Given the description of an element on the screen output the (x, y) to click on. 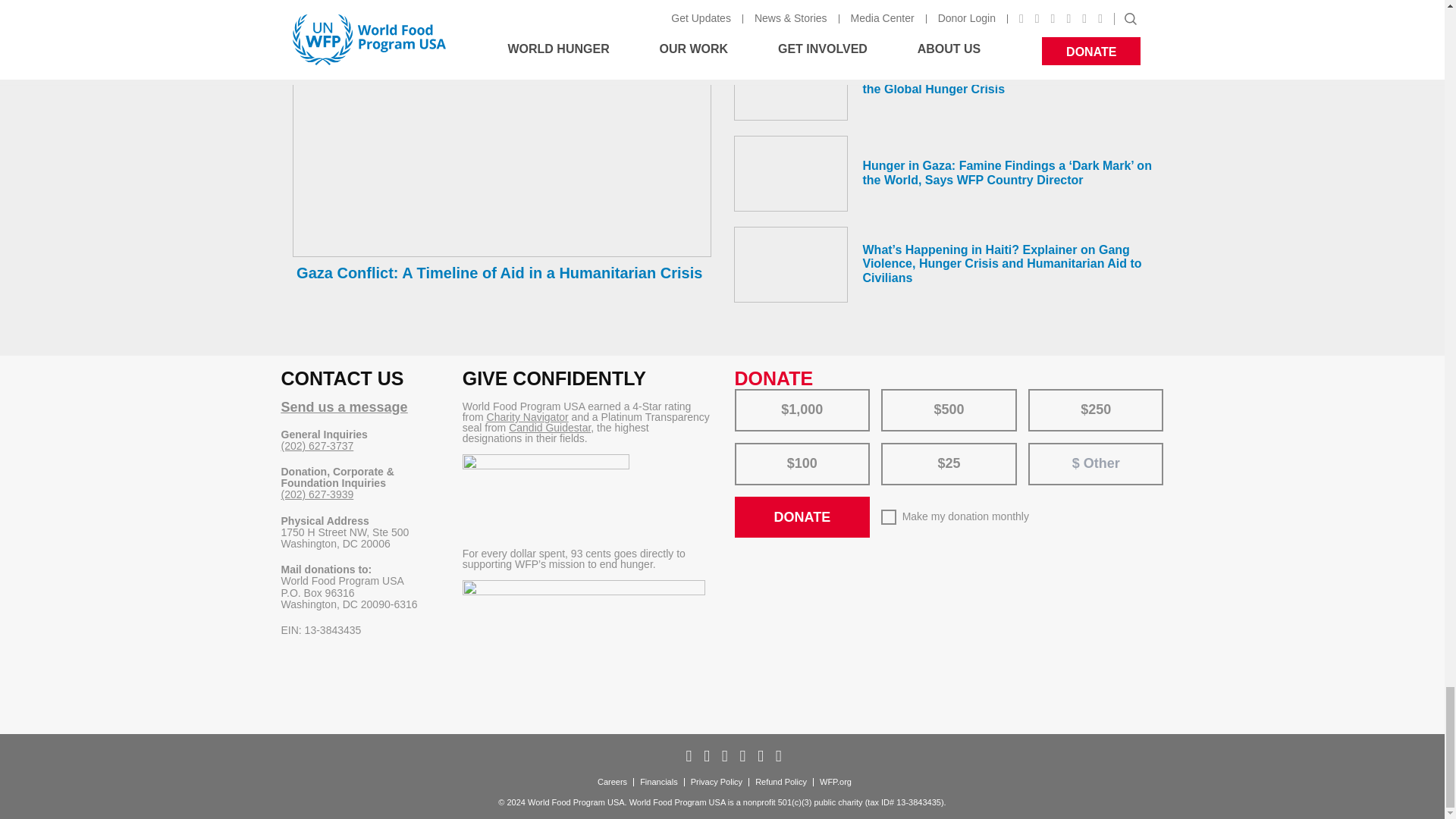
25 (891, 447)
1,000 (744, 393)
250 (1038, 393)
custom (1046, 449)
500 (891, 393)
100 (744, 447)
